Given the description of an element on the screen output the (x, y) to click on. 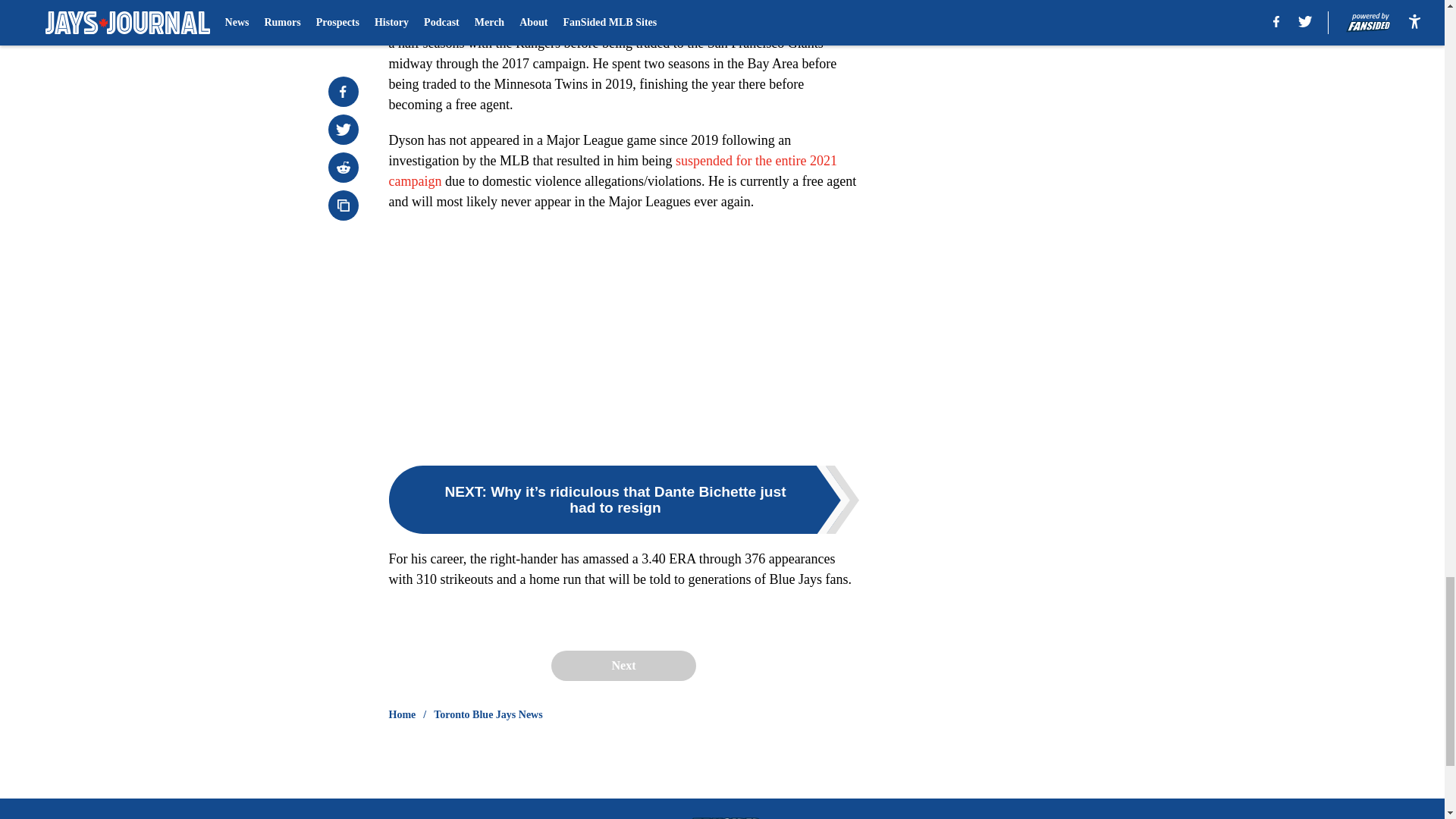
Home (401, 714)
suspended for the entire 2021 campaign (611, 171)
Next (622, 665)
Toronto Blue Jays News (488, 714)
